Given the description of an element on the screen output the (x, y) to click on. 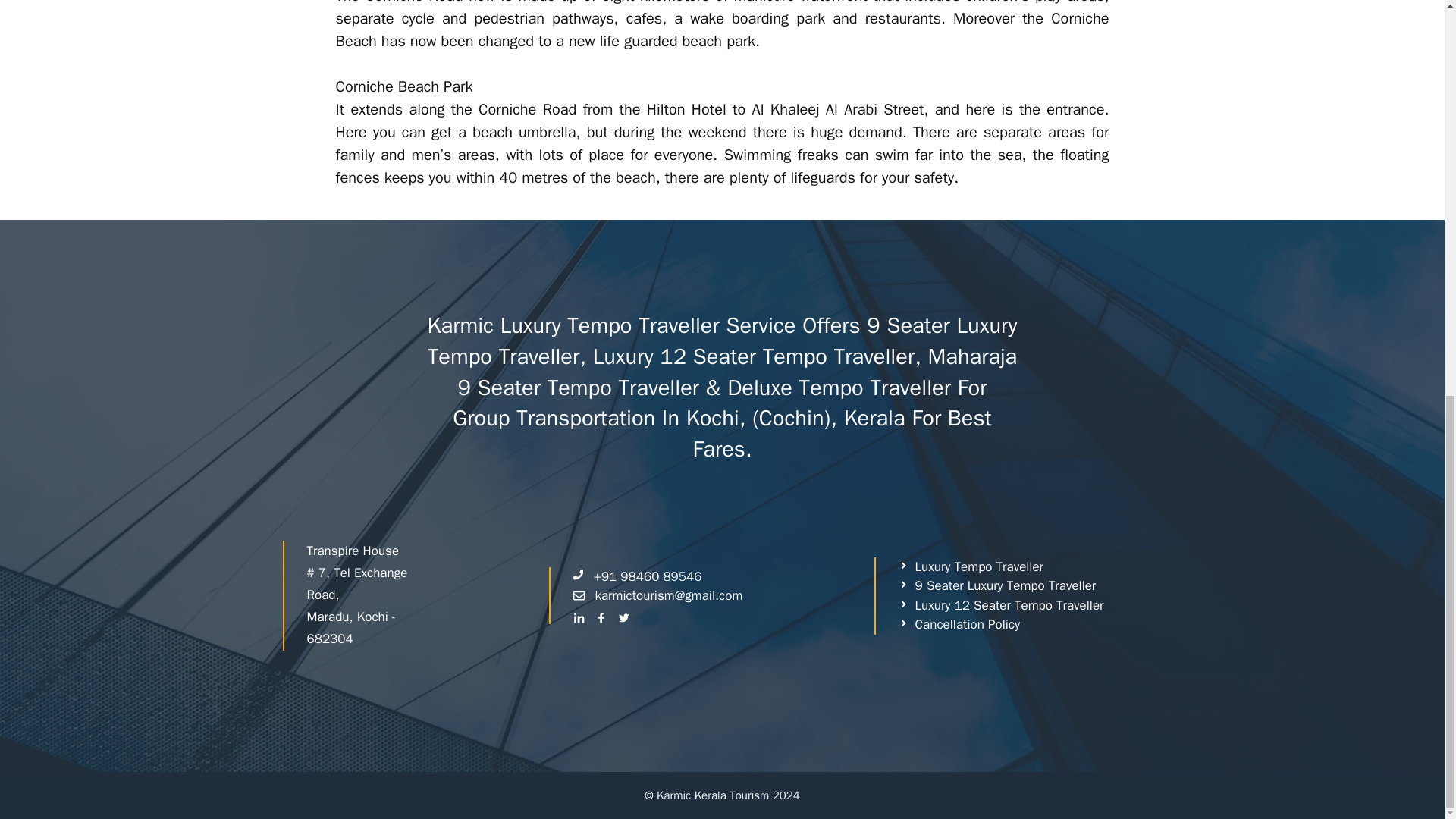
Scroll back to top (1406, 773)
9 Seater Luxury Tempo Traveller (997, 586)
Luxury 12 Seater Tempo Traveller (1000, 605)
Cancellation Policy (959, 624)
Luxury Tempo Traveller (970, 567)
